Given the description of an element on the screen output the (x, y) to click on. 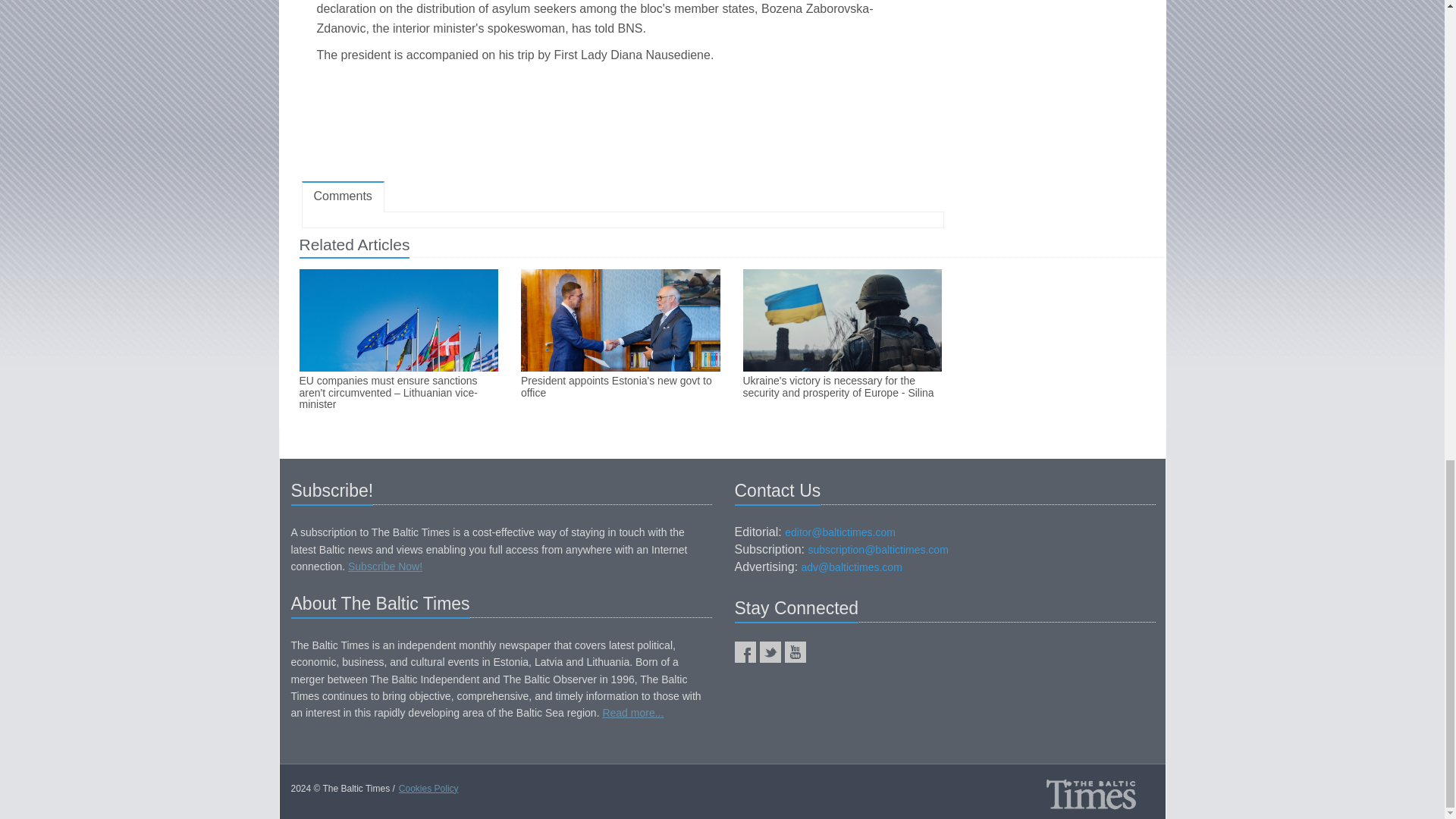
Advertisement (622, 126)
Comments (342, 196)
President appoints Estonia's new govt to office (620, 386)
